Given the description of an element on the screen output the (x, y) to click on. 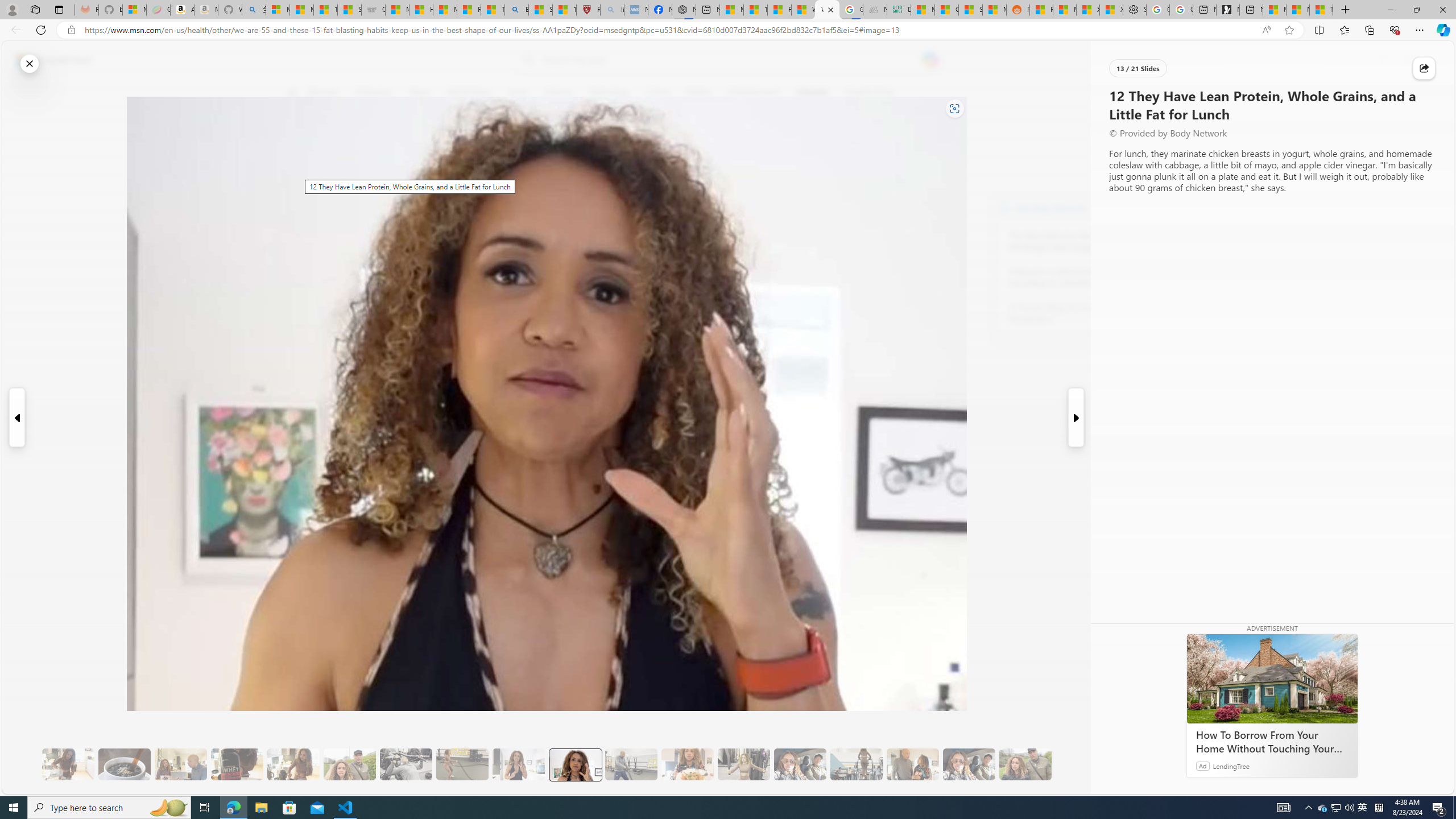
6 Since Eating More Protein Her Training Has Improved (237, 764)
5 She Eats Less Than Her Husband (180, 764)
18 It's More Fun Doing It with Someone Else (912, 764)
World News (468, 92)
Combat Siege (373, 9)
20 Overall, It Will Improve Your Health (1024, 764)
11 They Eat More Protein for Breakfast (518, 764)
